Given the description of an element on the screen output the (x, y) to click on. 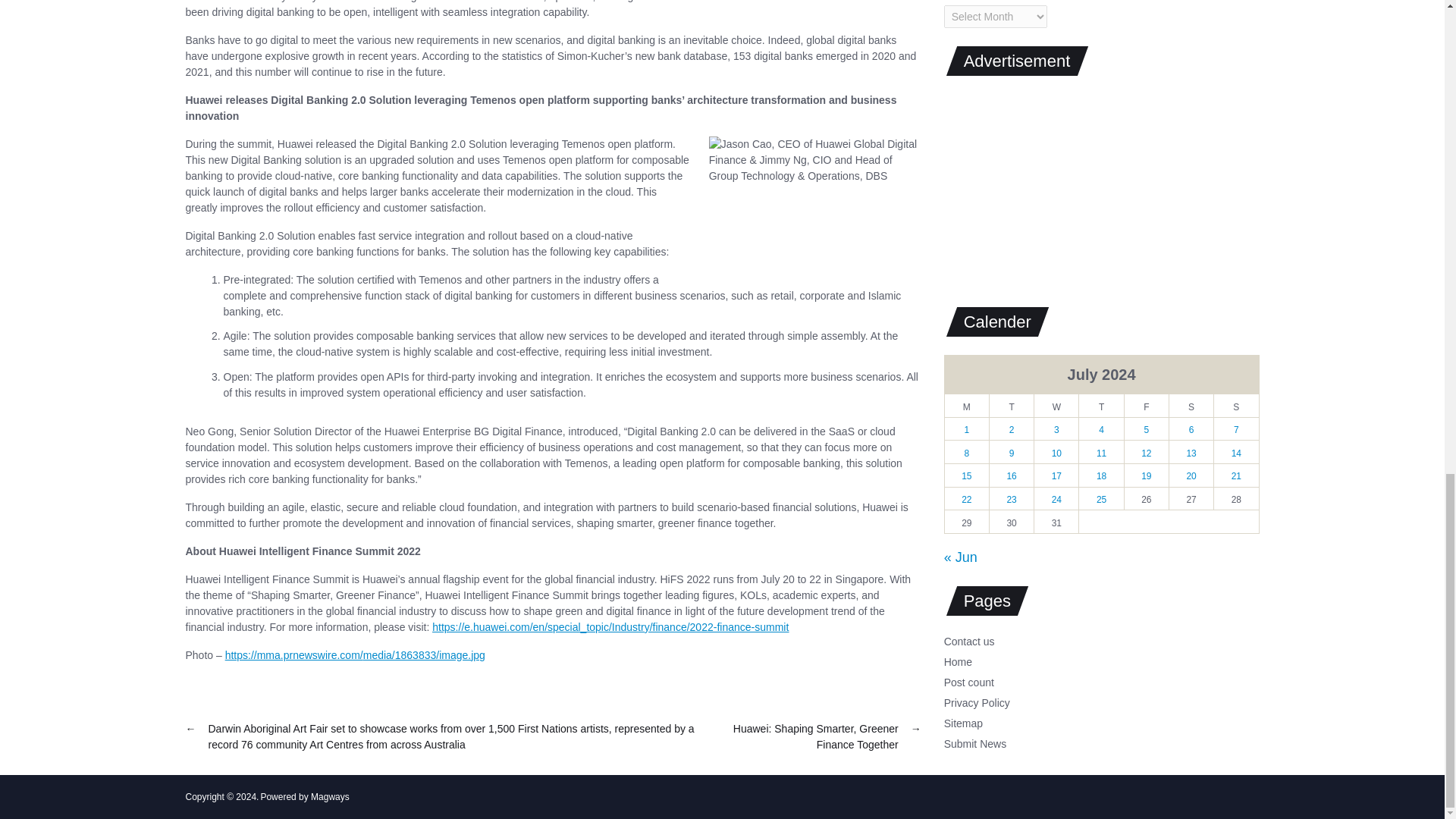
Sunday (1236, 401)
1 (966, 425)
Thursday (1101, 401)
Saturday (1190, 401)
Wednesday (1055, 401)
Monday (965, 401)
Tuesday (1010, 401)
Advertisement (1057, 185)
Friday (1146, 401)
